Given the description of an element on the screen output the (x, y) to click on. 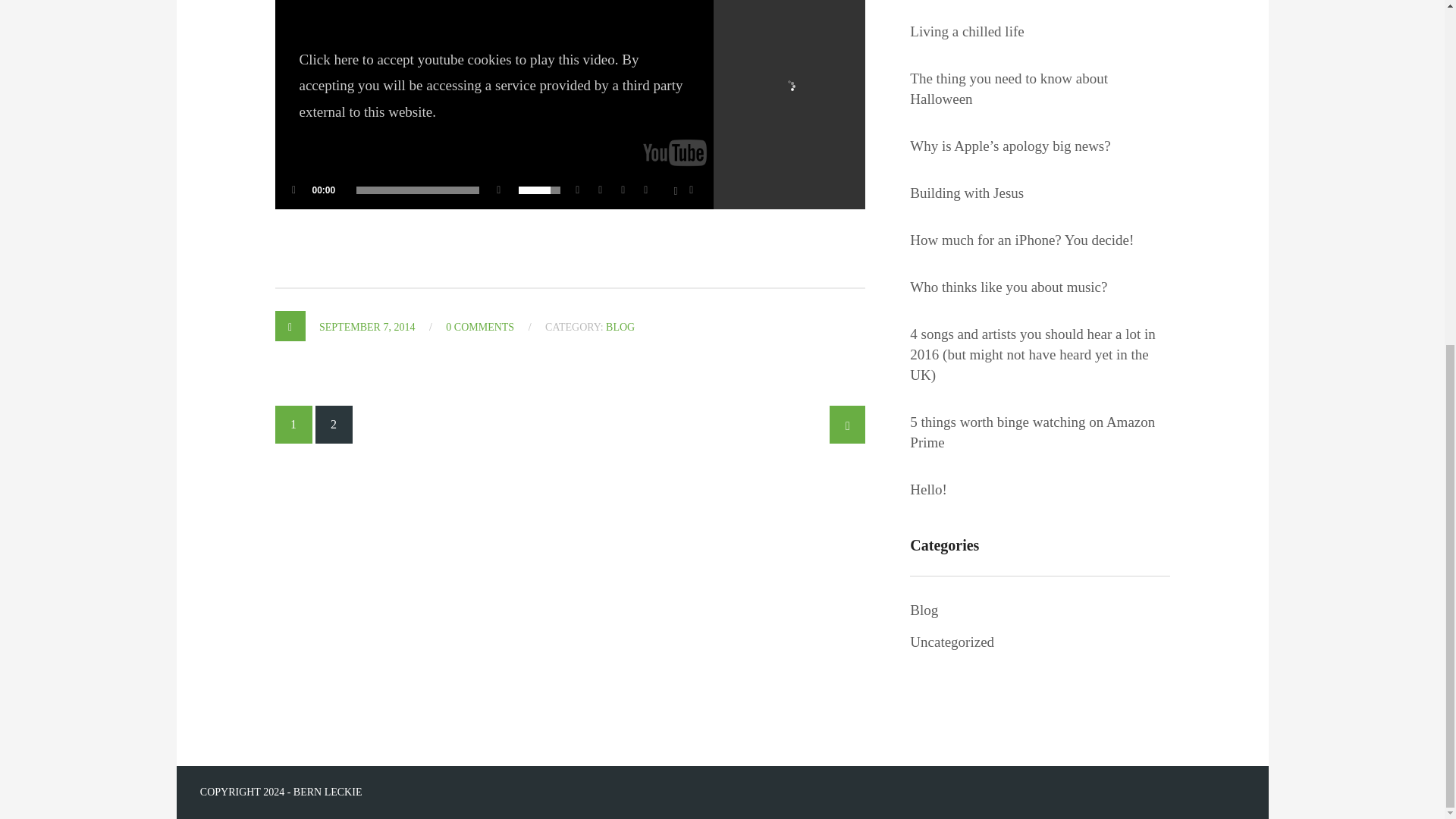
Living a chilled life (966, 31)
Toggle Mute (499, 190)
Toggle Fullscreen (694, 190)
How much for an iPhone? You decide! (1022, 240)
Hello! (928, 489)
Who thinks like you about music? (1008, 286)
The thing you need to know about Halloween (1039, 87)
Building with Jesus (966, 192)
SEPTEMBER 7, 2014 (366, 326)
Share (580, 190)
